Given the description of an element on the screen output the (x, y) to click on. 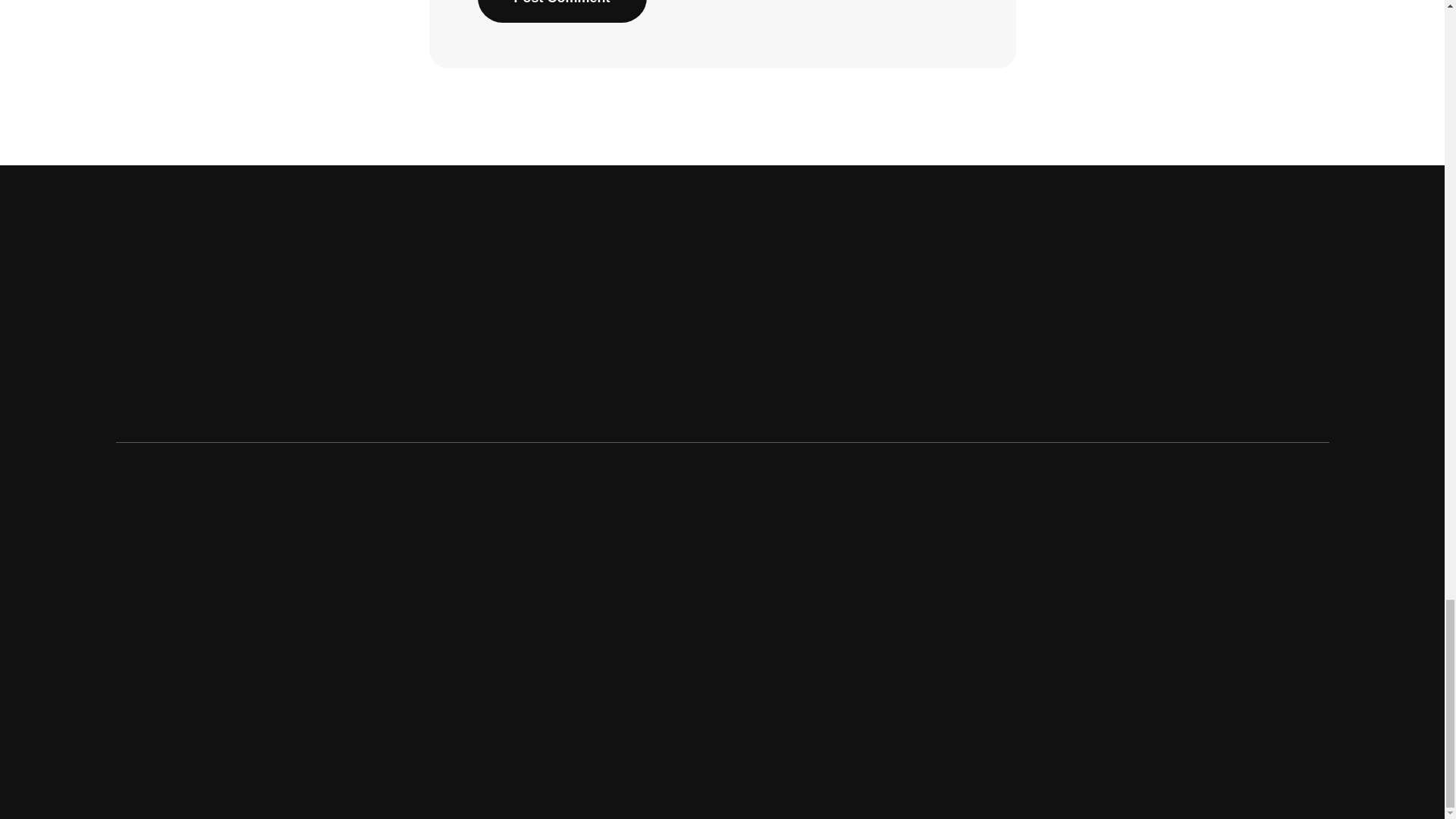
Post Comment (561, 11)
Post Comment (561, 11)
